Given the description of an element on the screen output the (x, y) to click on. 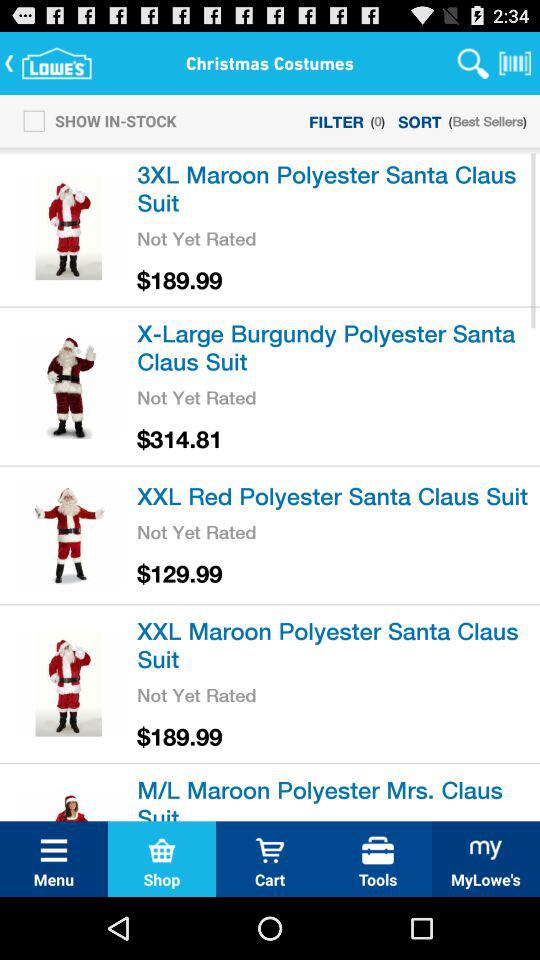
turn on the icon above the (best sellers) (515, 62)
